Given the description of an element on the screen output the (x, y) to click on. 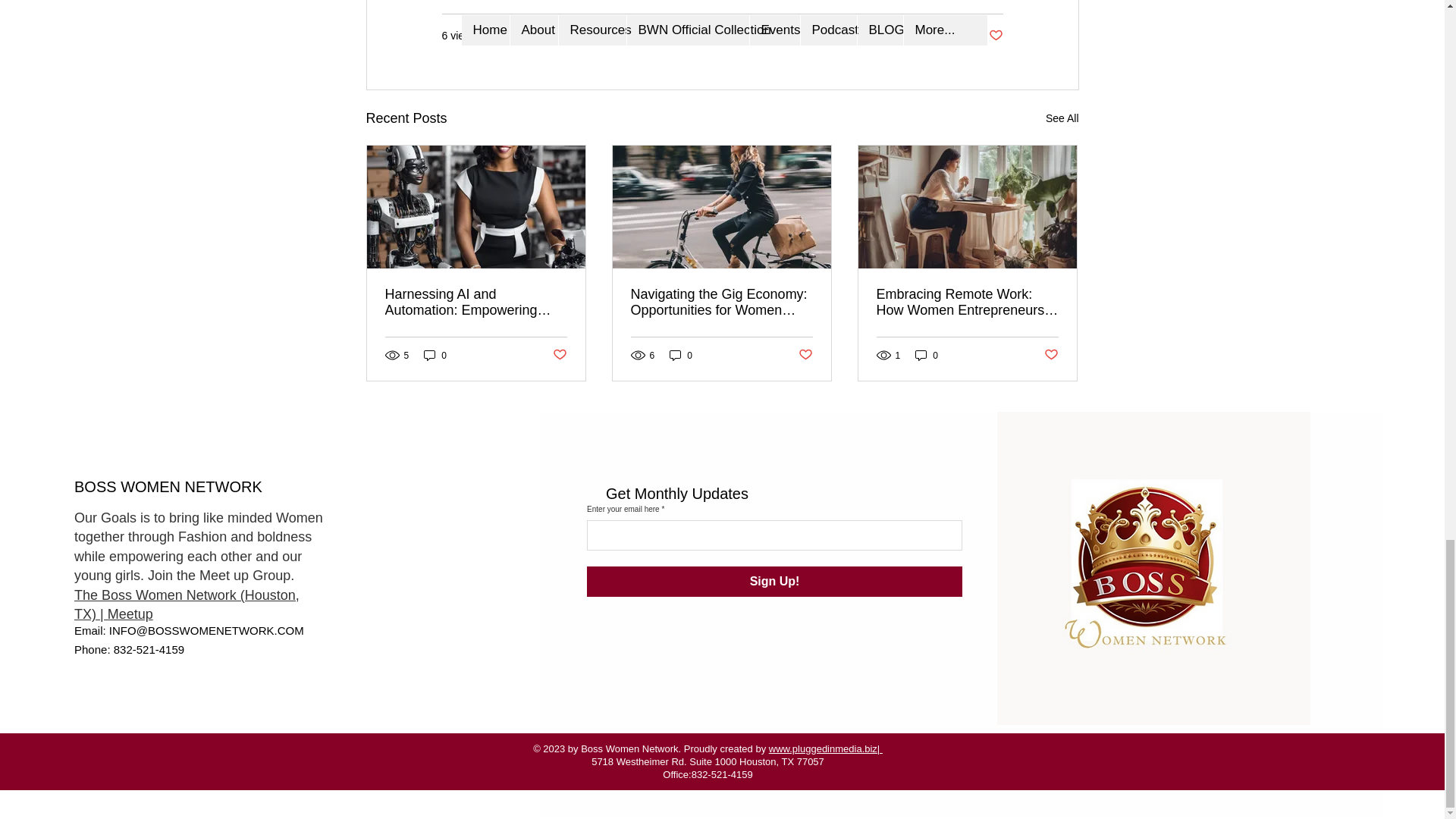
See All (1061, 118)
0 (681, 355)
0 (435, 355)
Post not marked as liked (558, 355)
Post not marked as liked (995, 35)
